Given the description of an element on the screen output the (x, y) to click on. 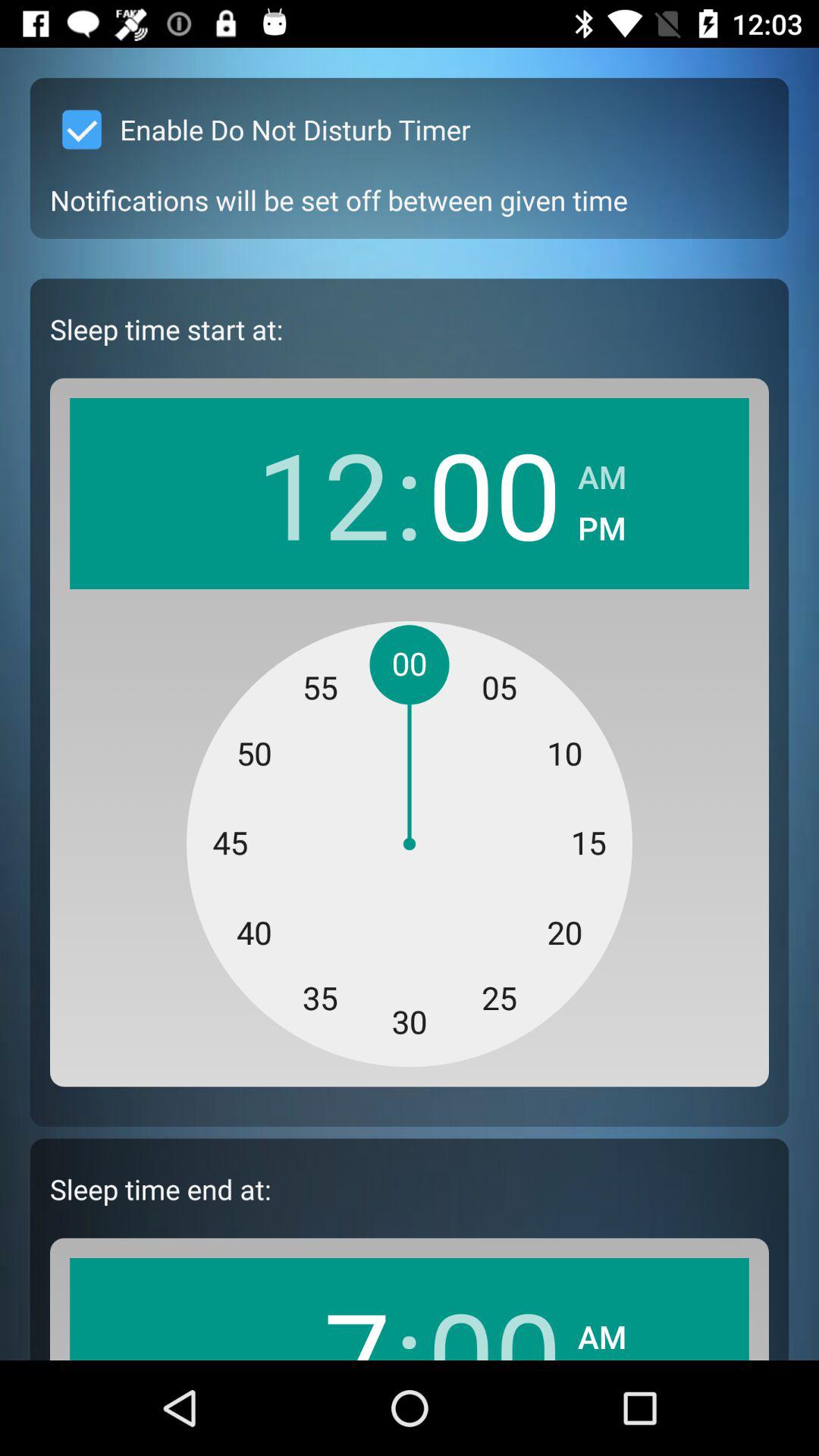
launch the enable do not icon (260, 129)
